Given the description of an element on the screen output the (x, y) to click on. 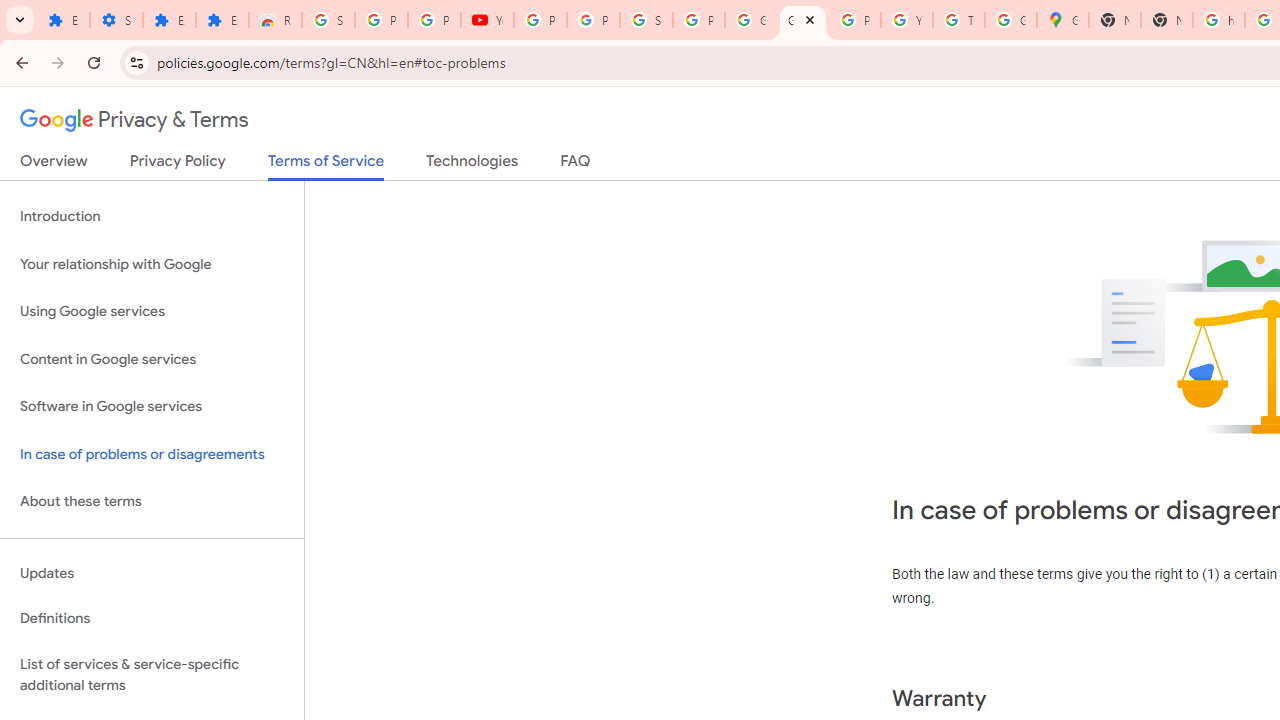
Overview (54, 165)
Sign in - Google Accounts (328, 20)
